Given the description of an element on the screen output the (x, y) to click on. 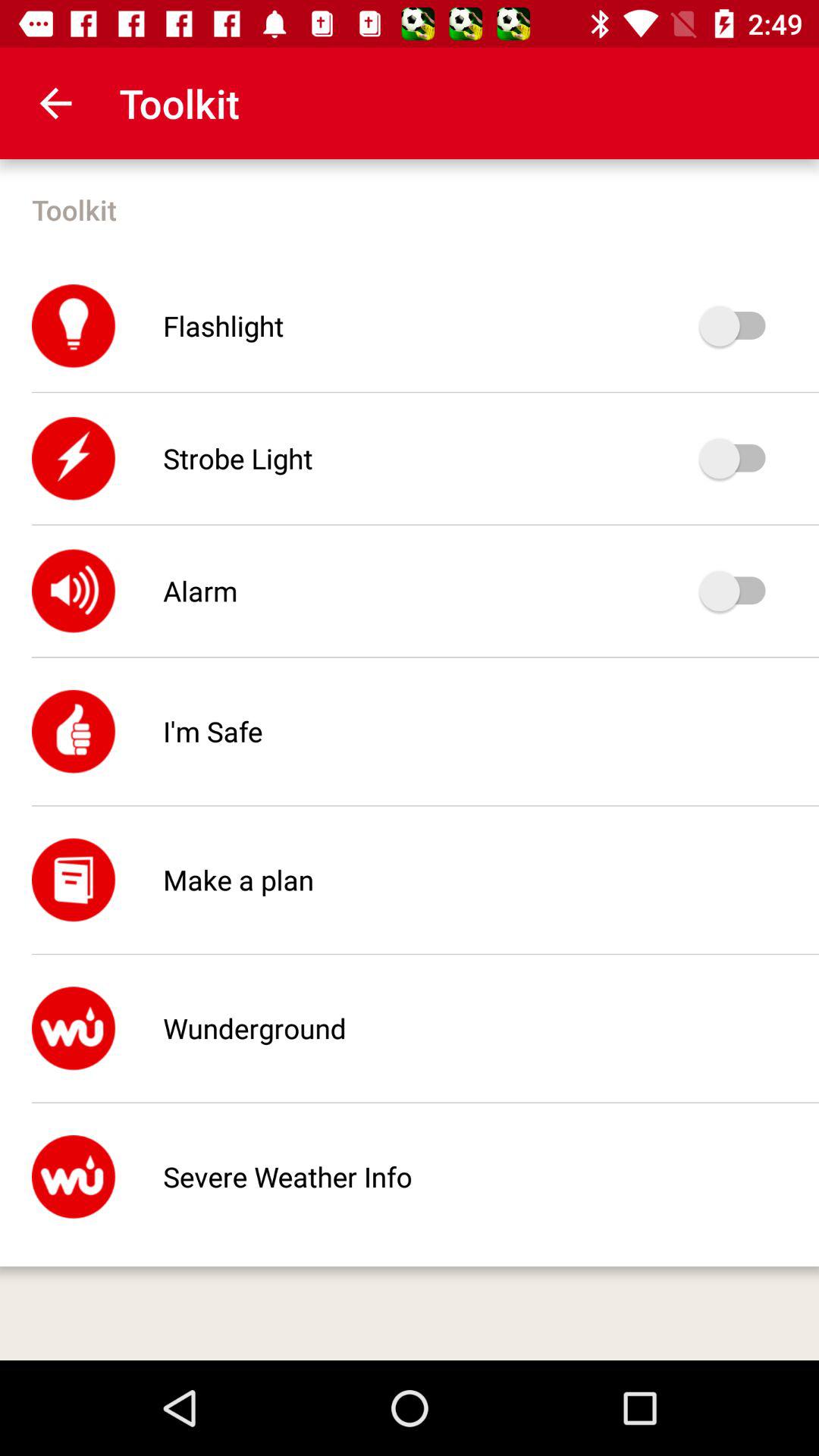
select the icon left to wunderground (73, 1028)
move to icon which is left to flashlight (73, 325)
select the symbol beside alarm (73, 591)
